Given the description of an element on the screen output the (x, y) to click on. 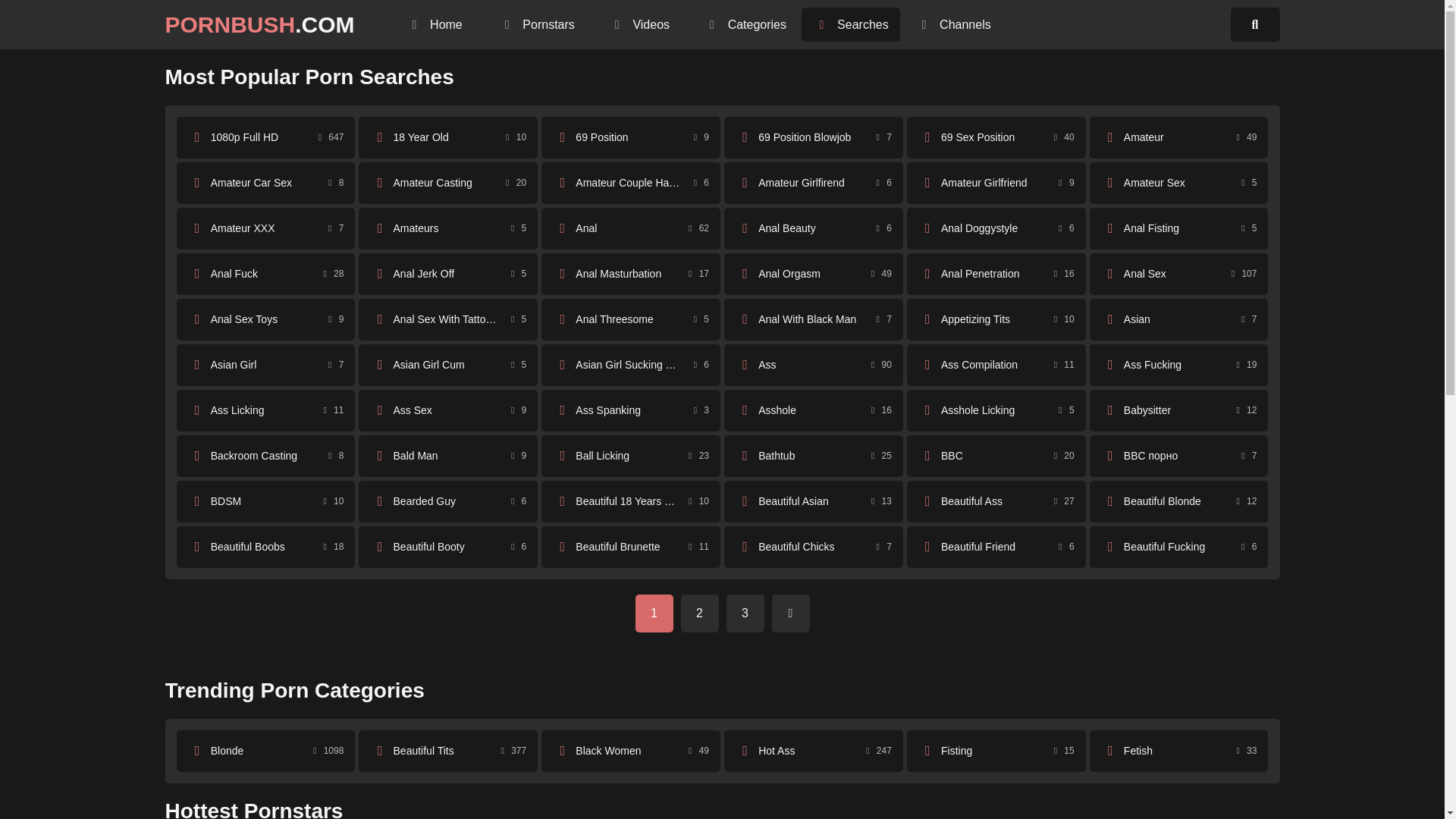
Channels (1178, 182)
Home (996, 137)
Searches (447, 182)
